Given the description of an element on the screen output the (x, y) to click on. 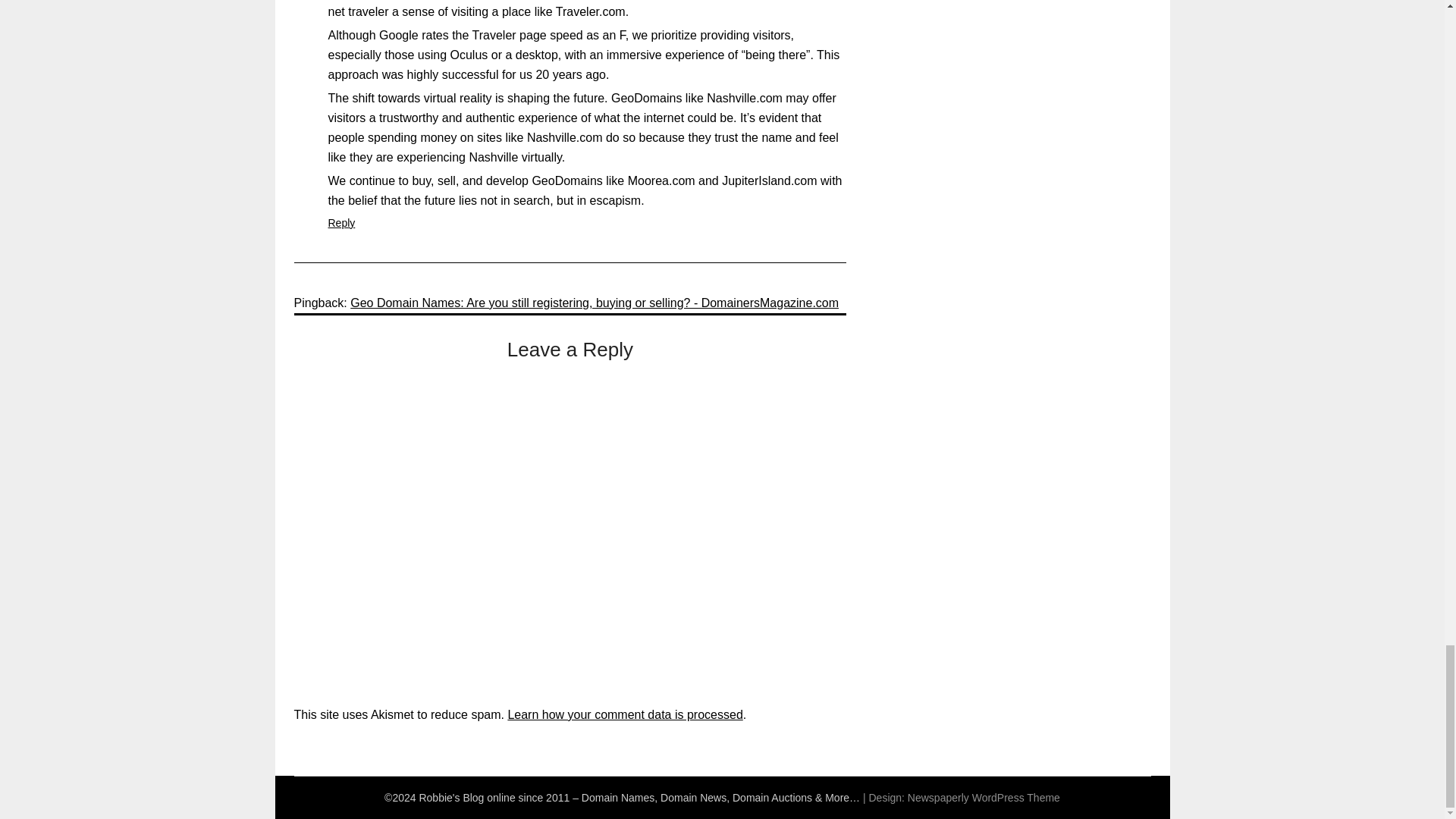
Reply (341, 223)
Learn how your comment data is processed (624, 714)
